Given the description of an element on the screen output the (x, y) to click on. 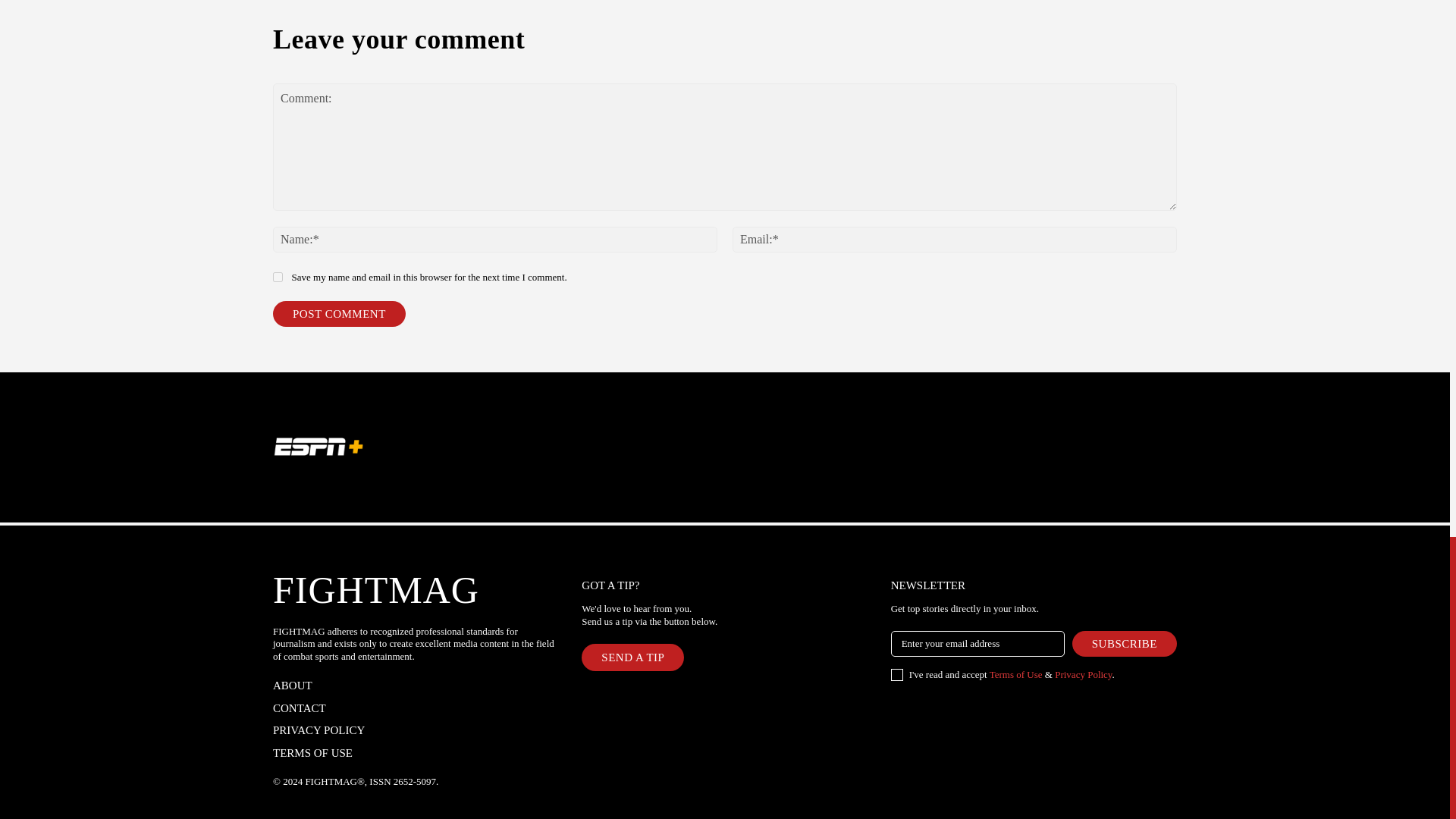
yes (277, 276)
Post Comment (339, 314)
Send a tip (632, 656)
